Given the description of an element on the screen output the (x, y) to click on. 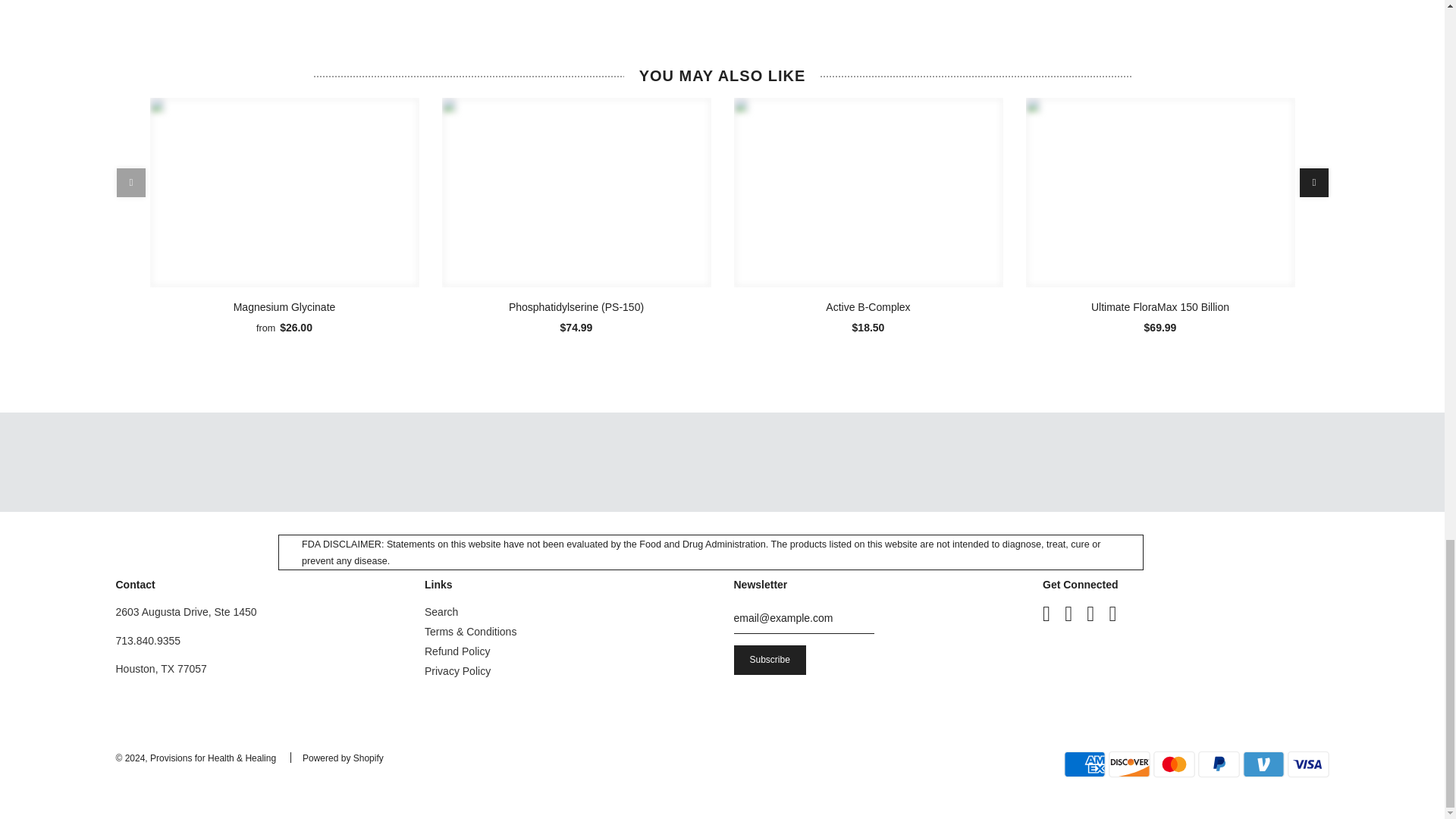
Visa (1308, 764)
Discover (1129, 764)
Venmo (1263, 764)
Ultimate FloraMax 150 Billion (1159, 192)
Magnesium Glycinate (284, 192)
Active B-Complex (868, 192)
PayPal (1219, 764)
Subscribe (769, 659)
Mastercard (1174, 764)
American Express (1084, 764)
